Given the description of an element on the screen output the (x, y) to click on. 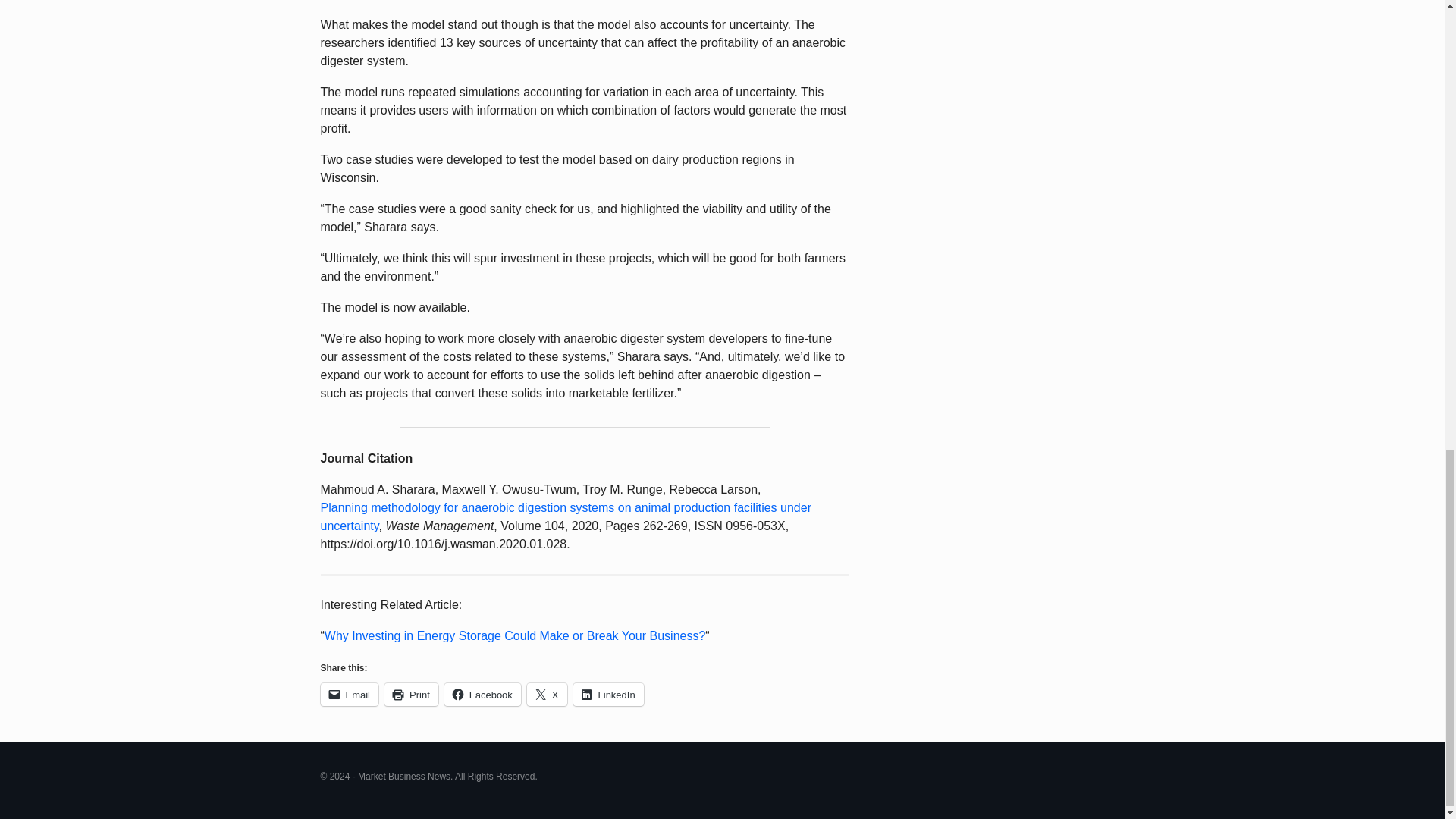
Click to share on LinkedIn (608, 694)
Click to email a link to a friend (349, 694)
Facebook (482, 694)
LinkedIn (608, 694)
Print (411, 694)
Click to print (411, 694)
Email (349, 694)
Click to share on Facebook (482, 694)
X (547, 694)
